Given the description of an element on the screen output the (x, y) to click on. 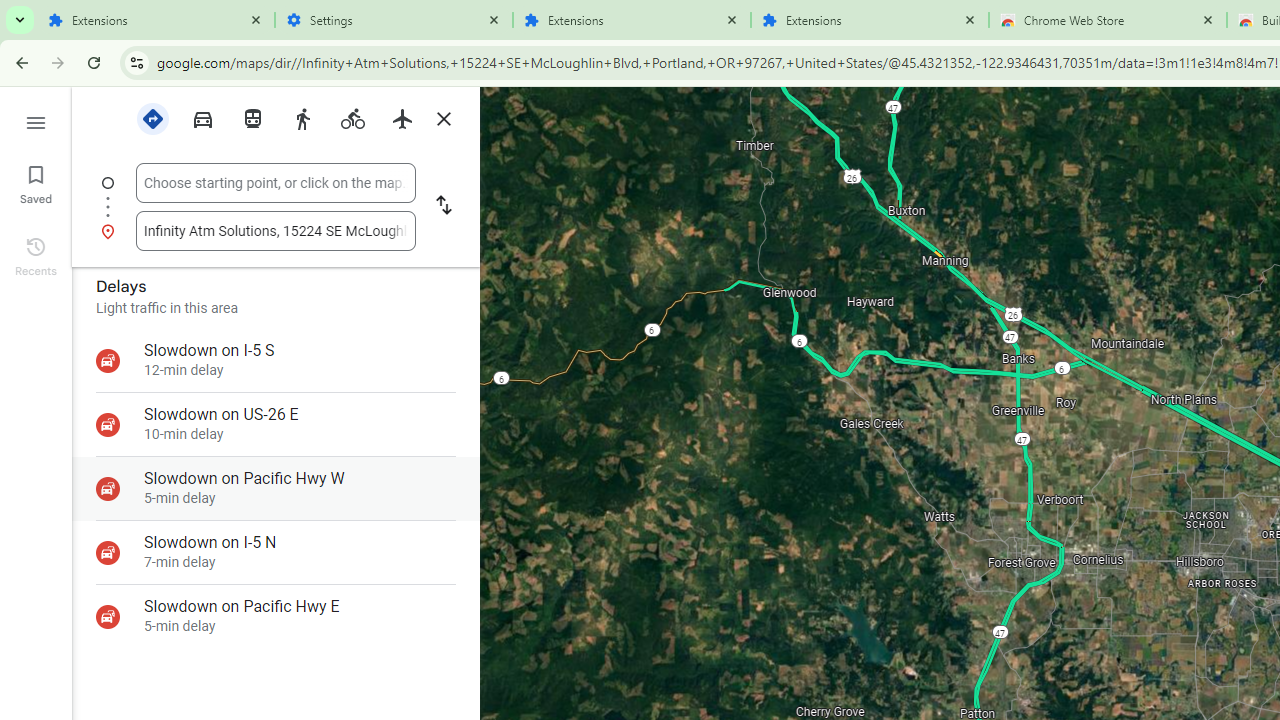
Cycling (352, 117)
Cycling (352, 119)
Walking (302, 119)
Walking (302, 117)
Extensions (870, 20)
Choose starting point, or click on the map... (275, 183)
AutomationID: sb_ifc50 (275, 182)
